Given the description of an element on the screen output the (x, y) to click on. 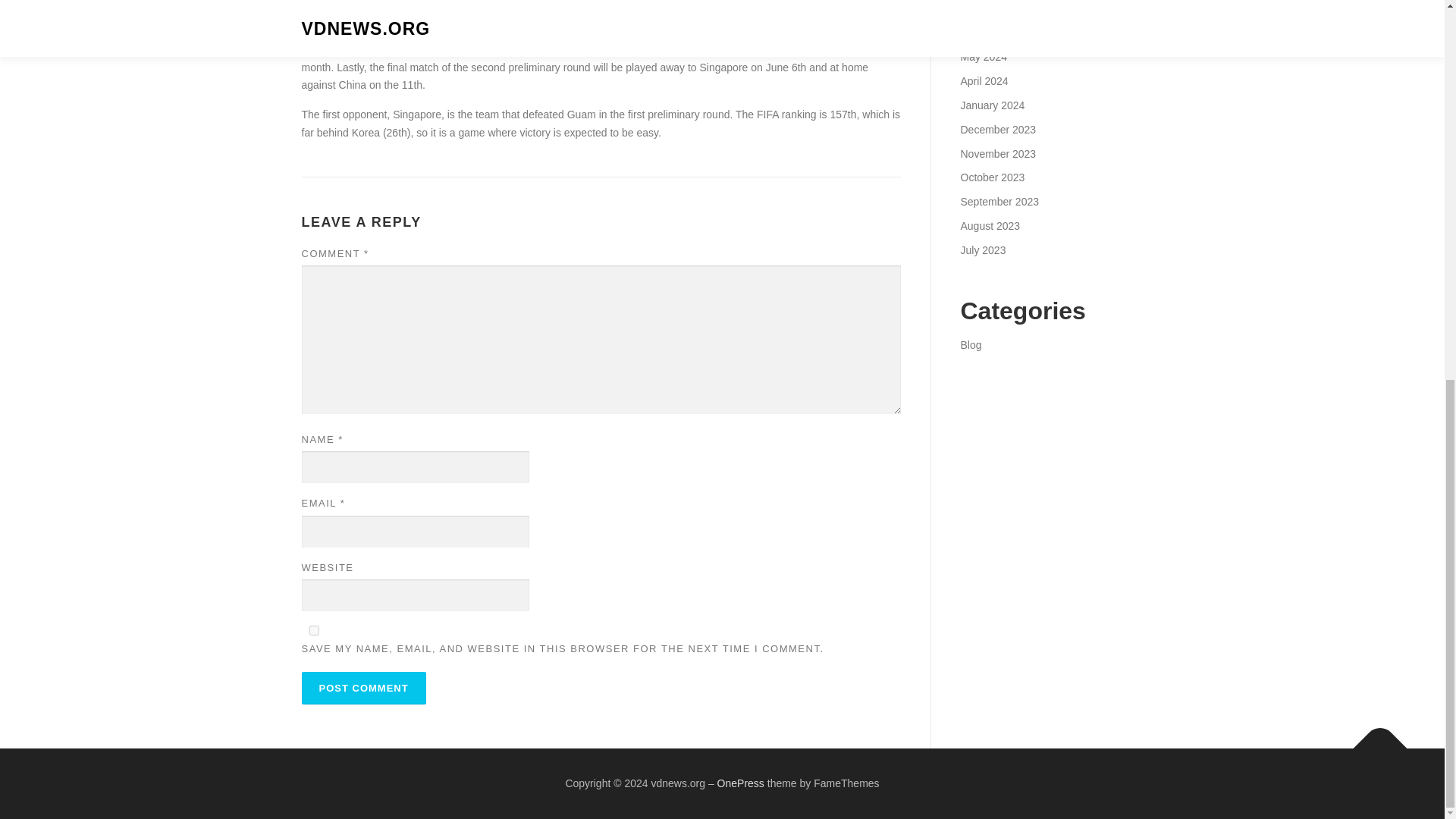
Post Comment (363, 687)
May 2024 (982, 56)
June 2024 (984, 33)
Back To Top (1372, 740)
December 2023 (997, 129)
October 2023 (992, 177)
April 2024 (983, 80)
yes (313, 630)
September 2023 (999, 201)
August 2023 (989, 225)
Blog (970, 345)
July 2023 (982, 250)
Post Comment (363, 687)
OnePress (740, 783)
July 2024 (982, 9)
